Given the description of an element on the screen output the (x, y) to click on. 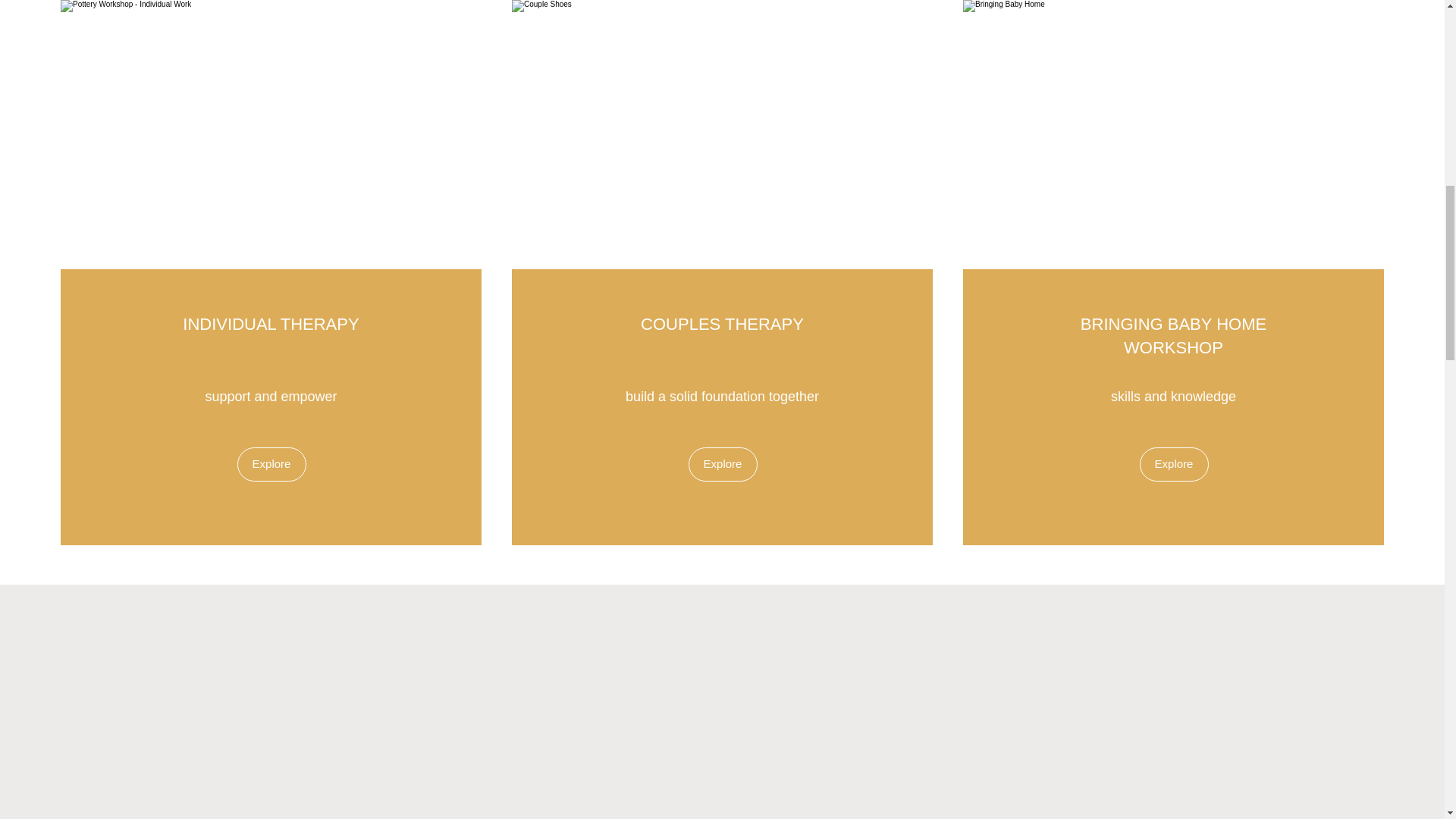
Explore (1173, 464)
Explore (270, 464)
Explore (722, 464)
